Given the description of an element on the screen output the (x, y) to click on. 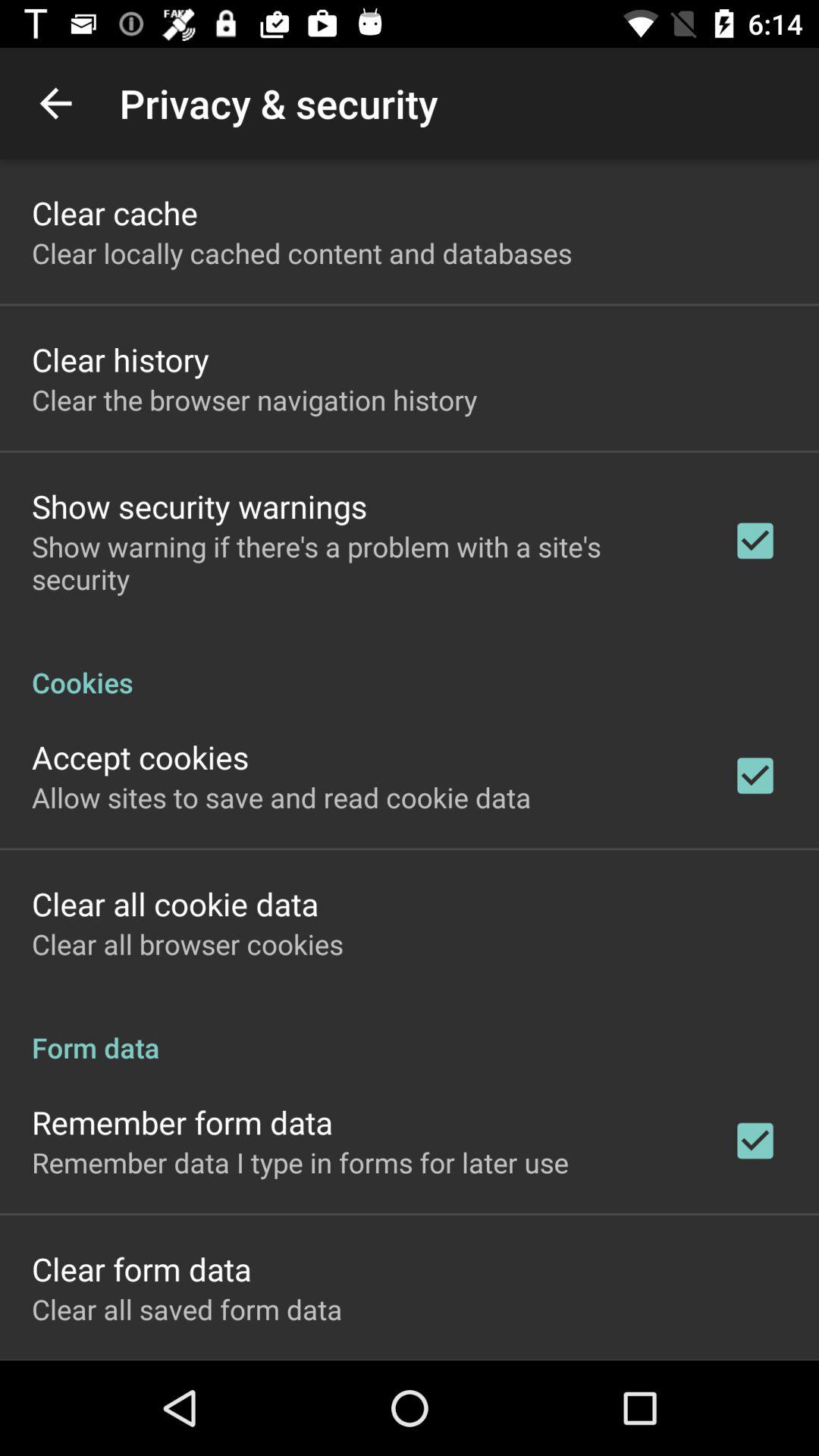
select the app below clear cache (301, 252)
